Given the description of an element on the screen output the (x, y) to click on. 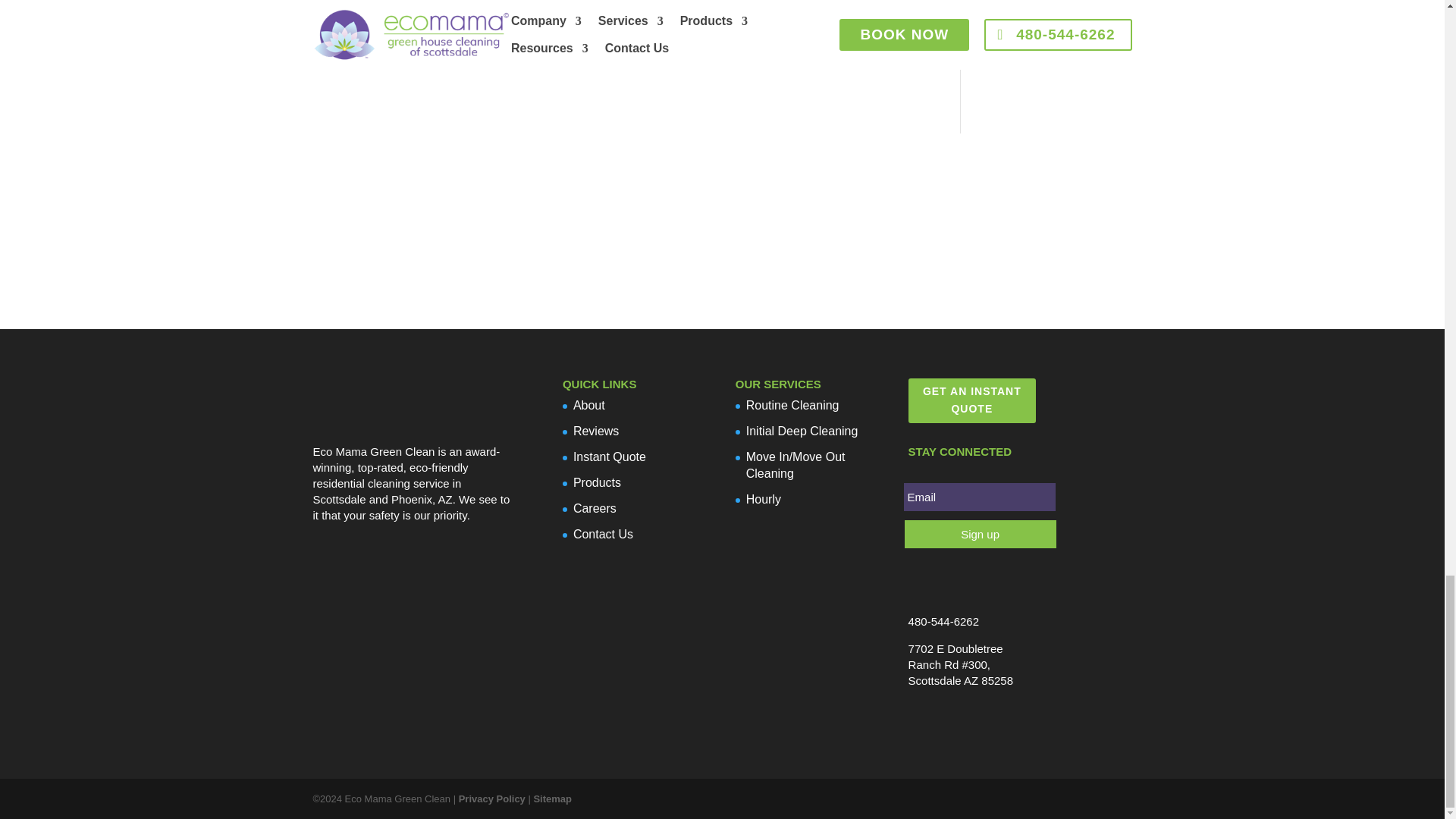
Submit Comment (827, 13)
Sign up (980, 533)
